Given the description of an element on the screen output the (x, y) to click on. 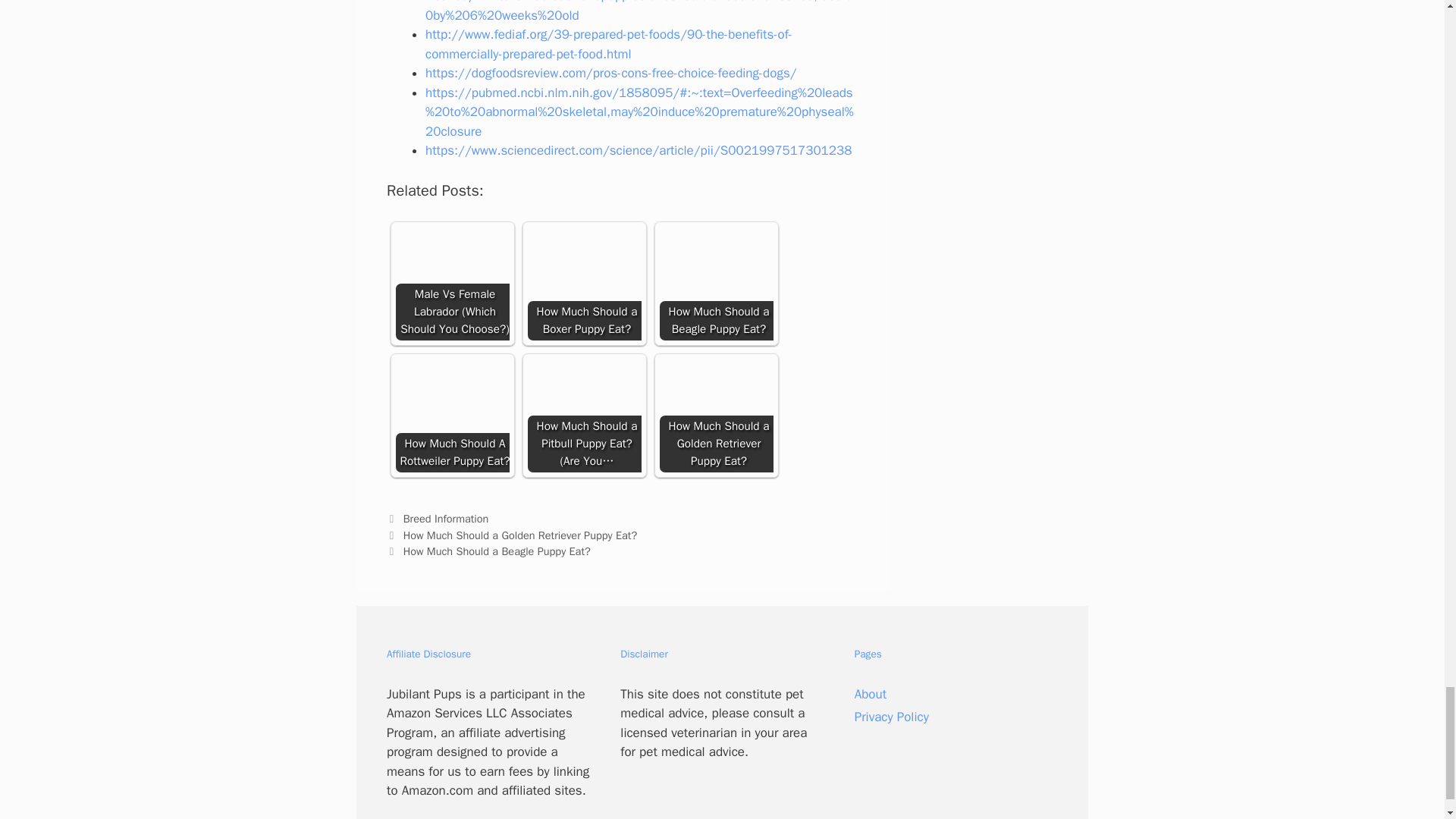
How Much Should a Golden Retriever Puppy Eat? (716, 415)
How Much Should A Rottweiler Puppy Eat? (452, 415)
How Much Should a Boxer Puppy Eat? (584, 283)
How Much Should a Beagle Puppy Eat? (716, 283)
